Given the description of an element on the screen output the (x, y) to click on. 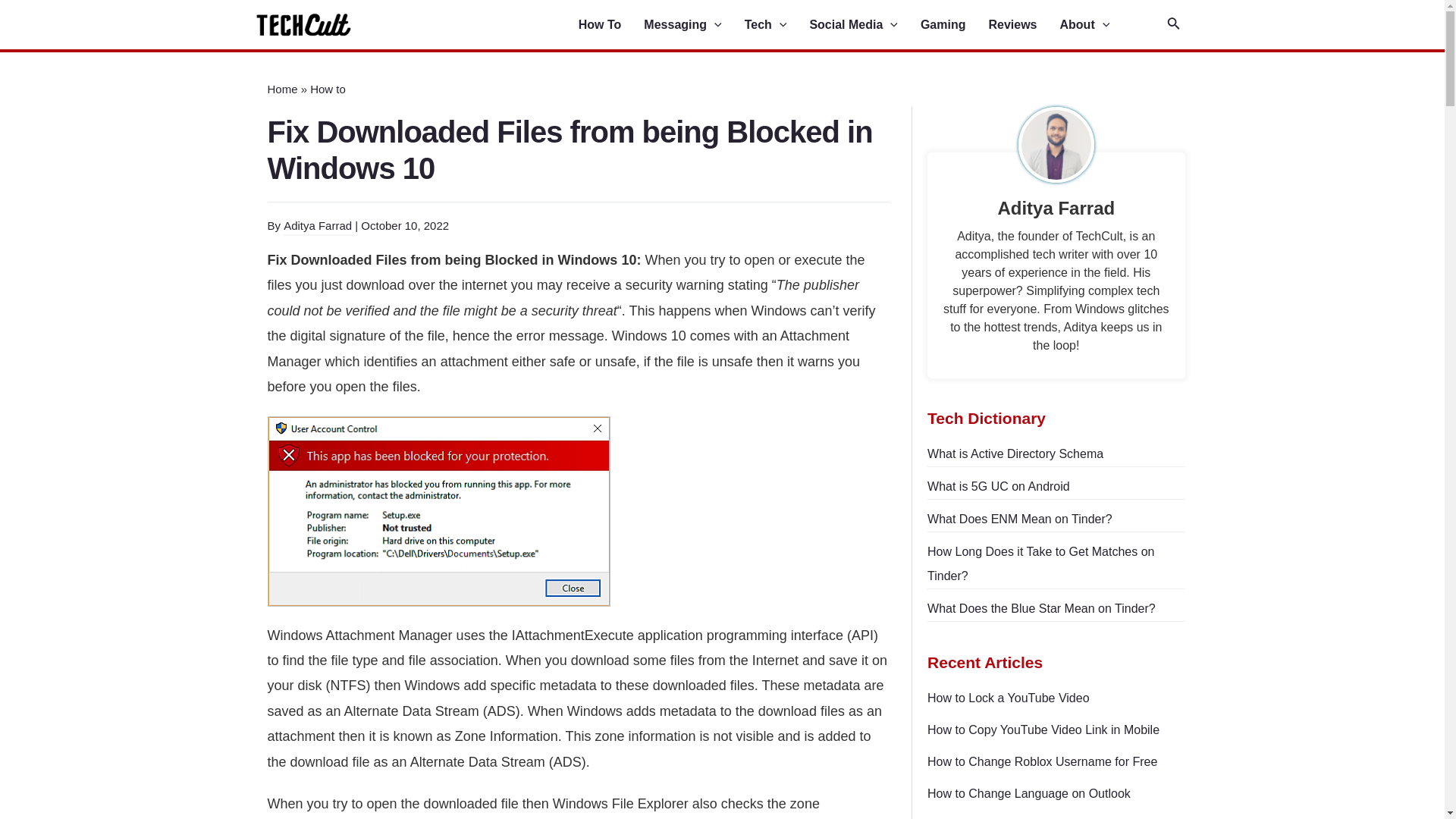
Reviews (1023, 25)
Messaging (693, 25)
Social Media (864, 25)
About (1095, 25)
How To (611, 25)
Home (281, 88)
Gaming (954, 25)
View all posts by Aditya Farrad (319, 226)
Tech (776, 25)
